Given the description of an element on the screen output the (x, y) to click on. 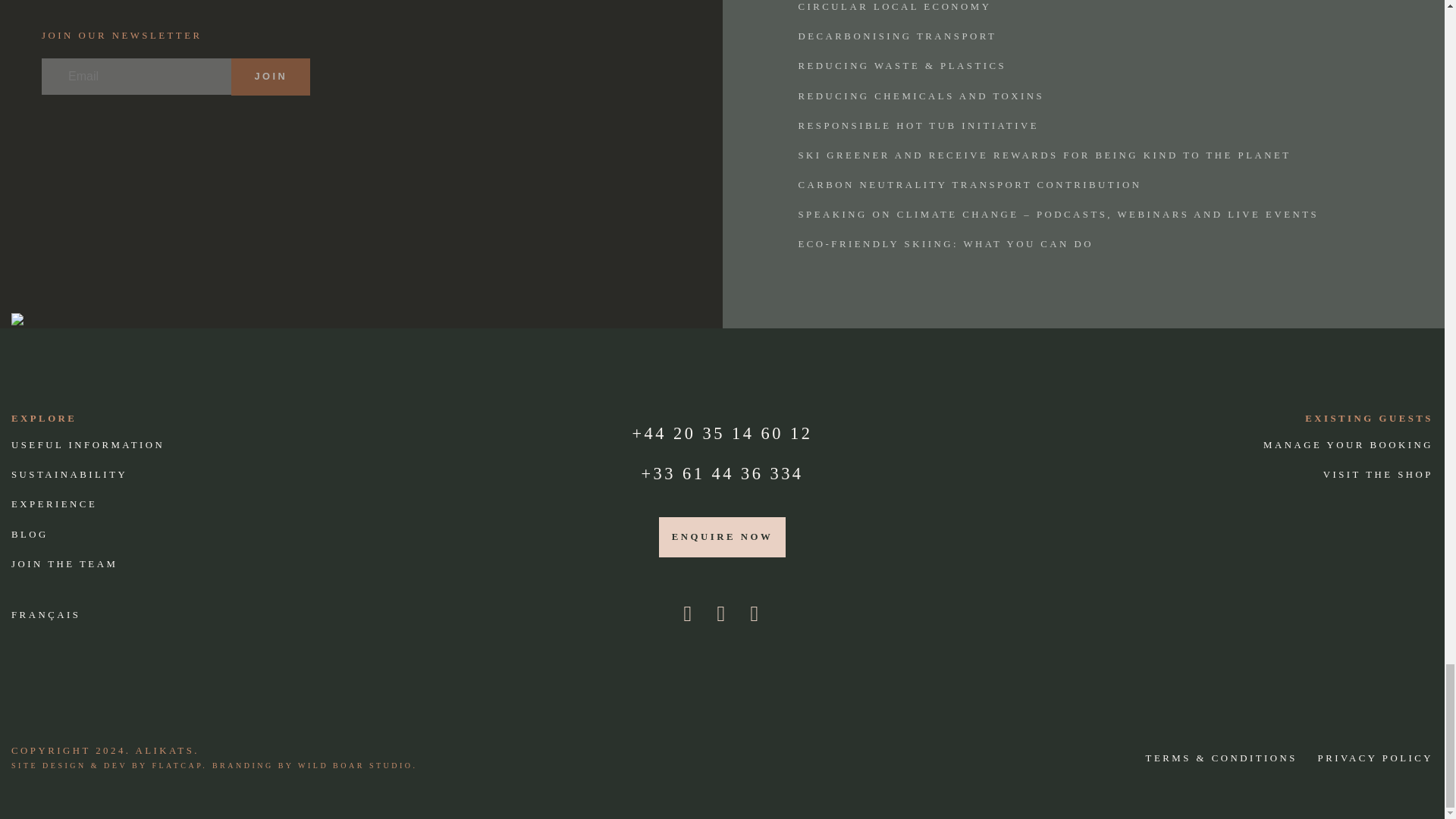
Join (270, 76)
Share on Facebook (58, 4)
Share on Twitter (92, 4)
Carbon Neutrality Transport Contribution (1083, 185)
Eco-friendly skiing: what you can do (1083, 244)
Decarbonising Transport (1083, 36)
Circular Local Economy (1083, 7)
Reducing Chemicals and Toxins (1083, 96)
Ski greener and receive rewards for being kind to the planet (1083, 155)
Responsible Hot Tub Initiative (1083, 125)
Follow us on Instagram (687, 613)
